Given the description of an element on the screen output the (x, y) to click on. 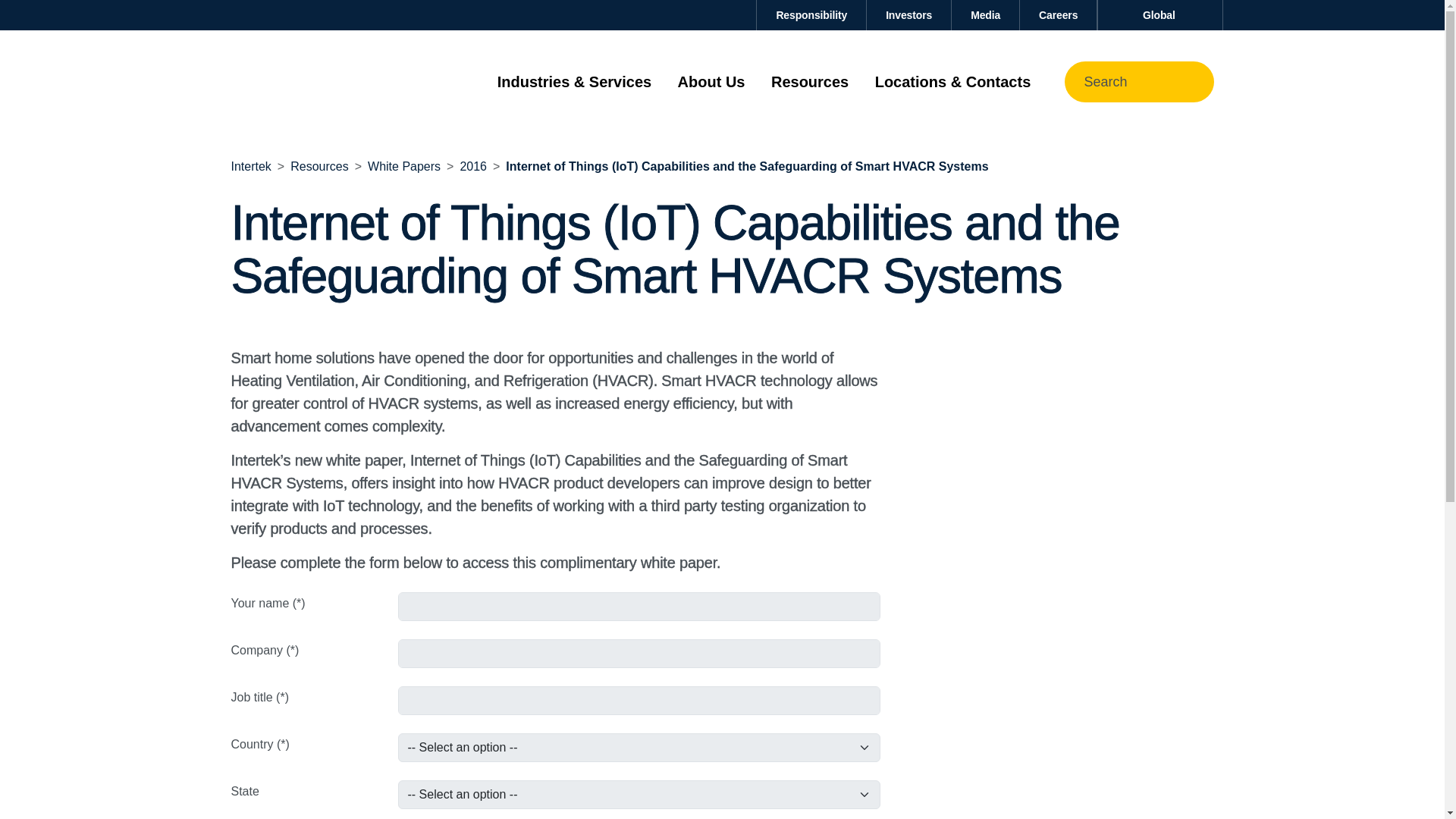
Resources (318, 165)
Intertek (250, 165)
2016 (473, 165)
Intertek Intertek Brand Logo (304, 81)
Intertek Intertek Brand Logo (304, 81)
White Papers (404, 165)
